Given the description of an element on the screen output the (x, y) to click on. 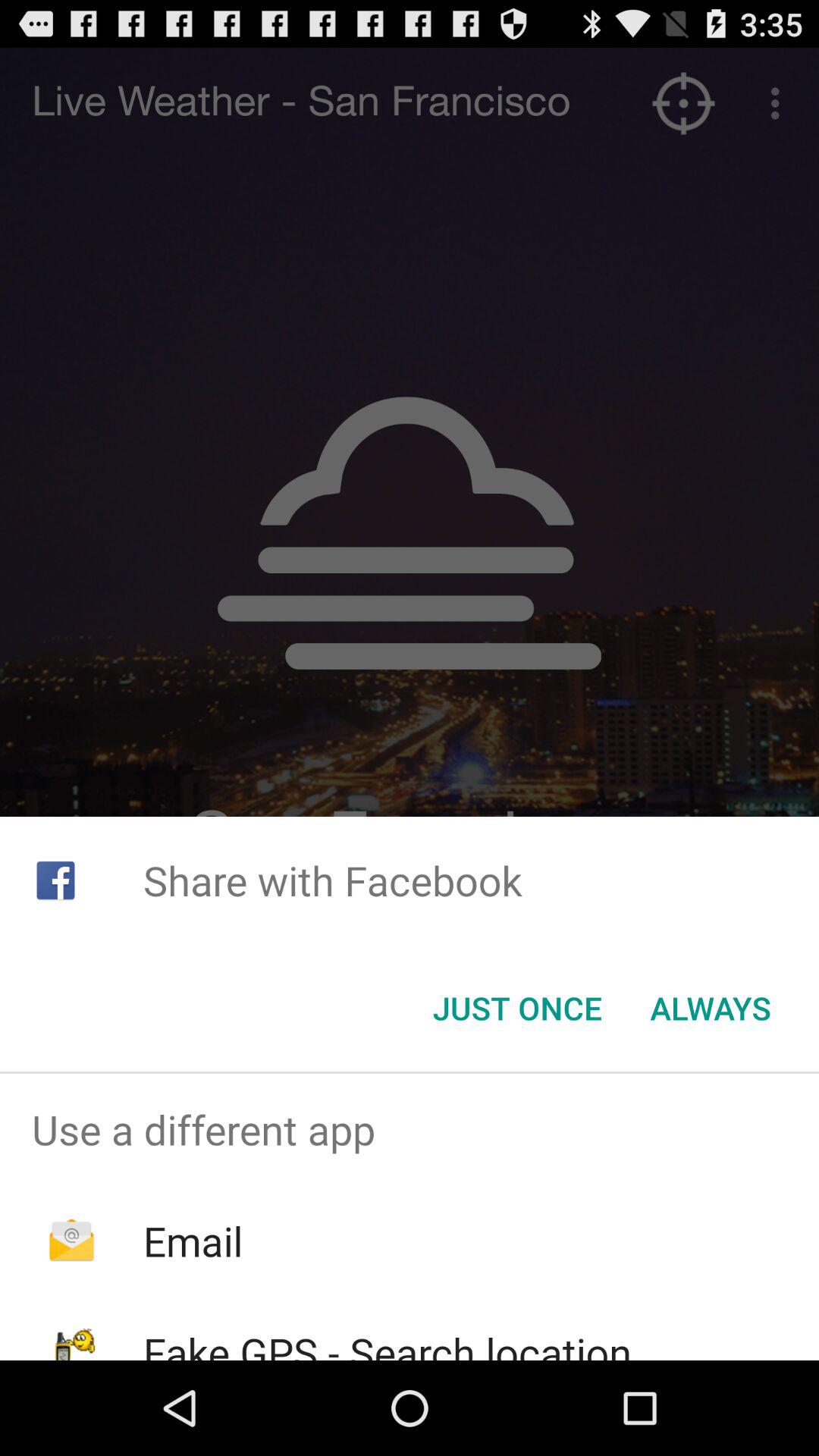
scroll to the use a different item (409, 1129)
